Given the description of an element on the screen output the (x, y) to click on. 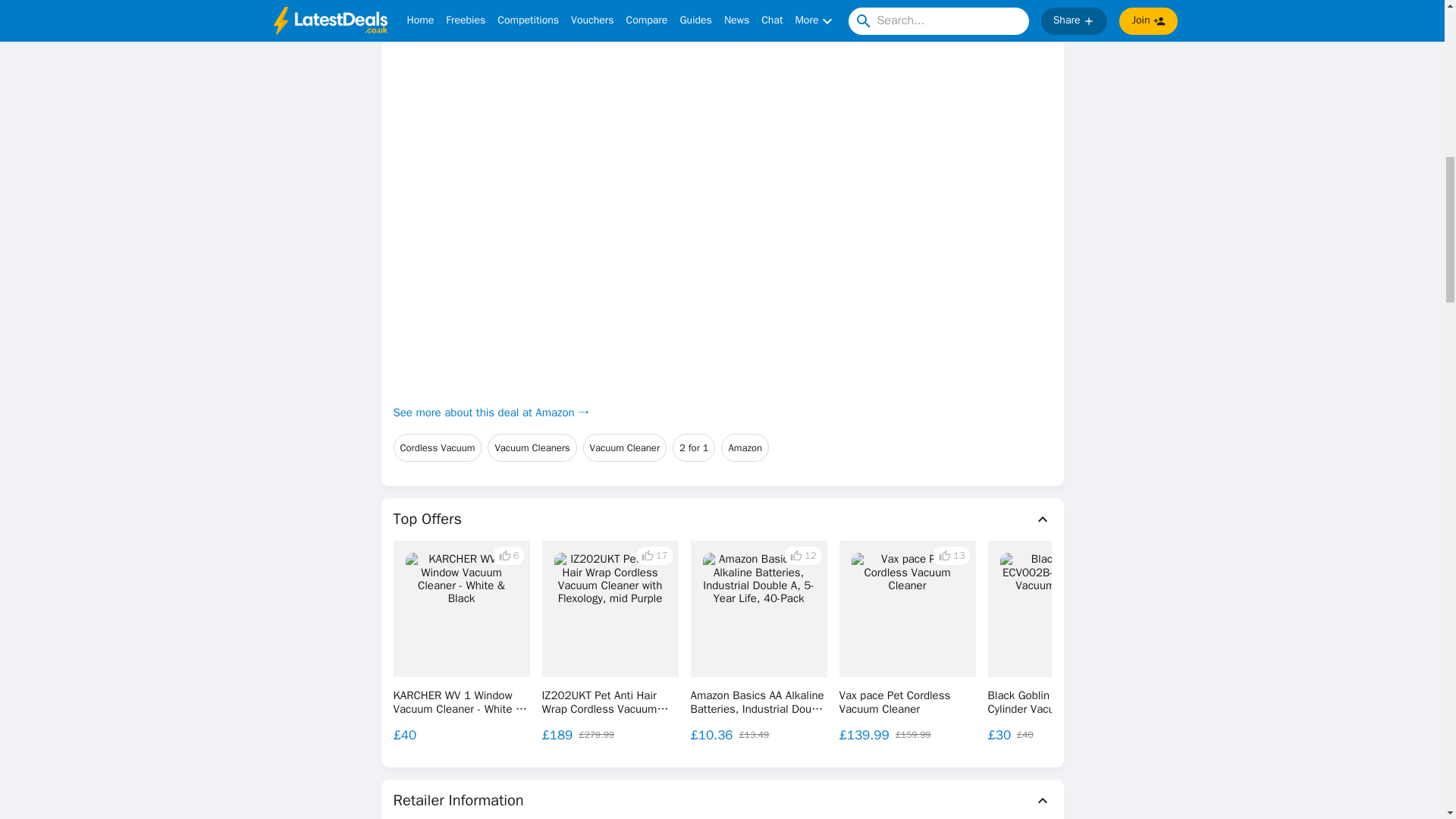
Top Offers (722, 519)
Amazon (744, 448)
Vacuum Cleaner (624, 448)
2 for 1 (693, 448)
Vacuum Cleaners (531, 448)
Cordless Vacuum (437, 448)
